Given the description of an element on the screen output the (x, y) to click on. 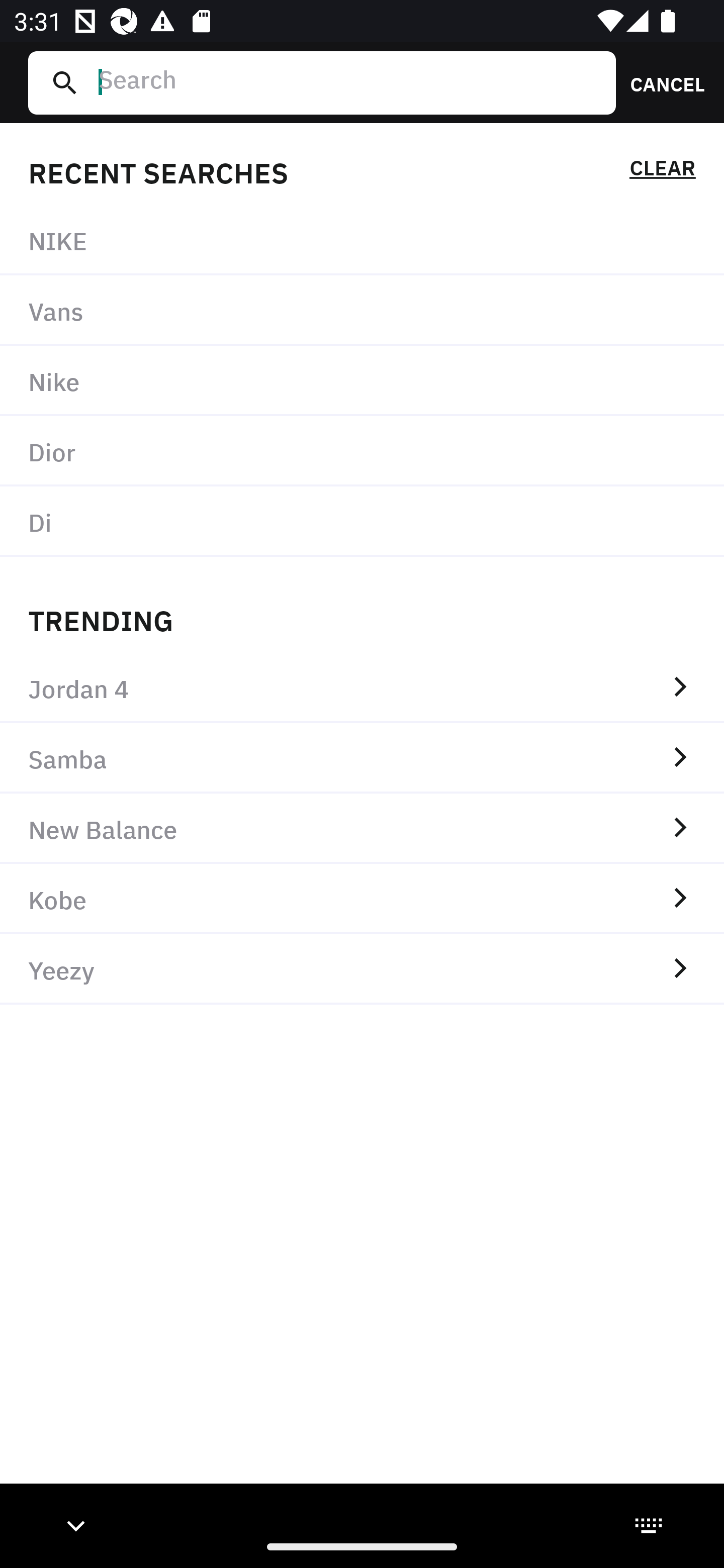
CANCEL (660, 82)
Search (349, 82)
CLEAR (662, 170)
NIKE (362, 240)
Vans (362, 310)
Nike (362, 380)
Dior (362, 450)
Di (362, 521)
Jordan 4  (362, 687)
Samba  (362, 757)
New Balance  (362, 828)
Kobe  (362, 898)
Yeezy  (362, 969)
